Given the description of an element on the screen output the (x, y) to click on. 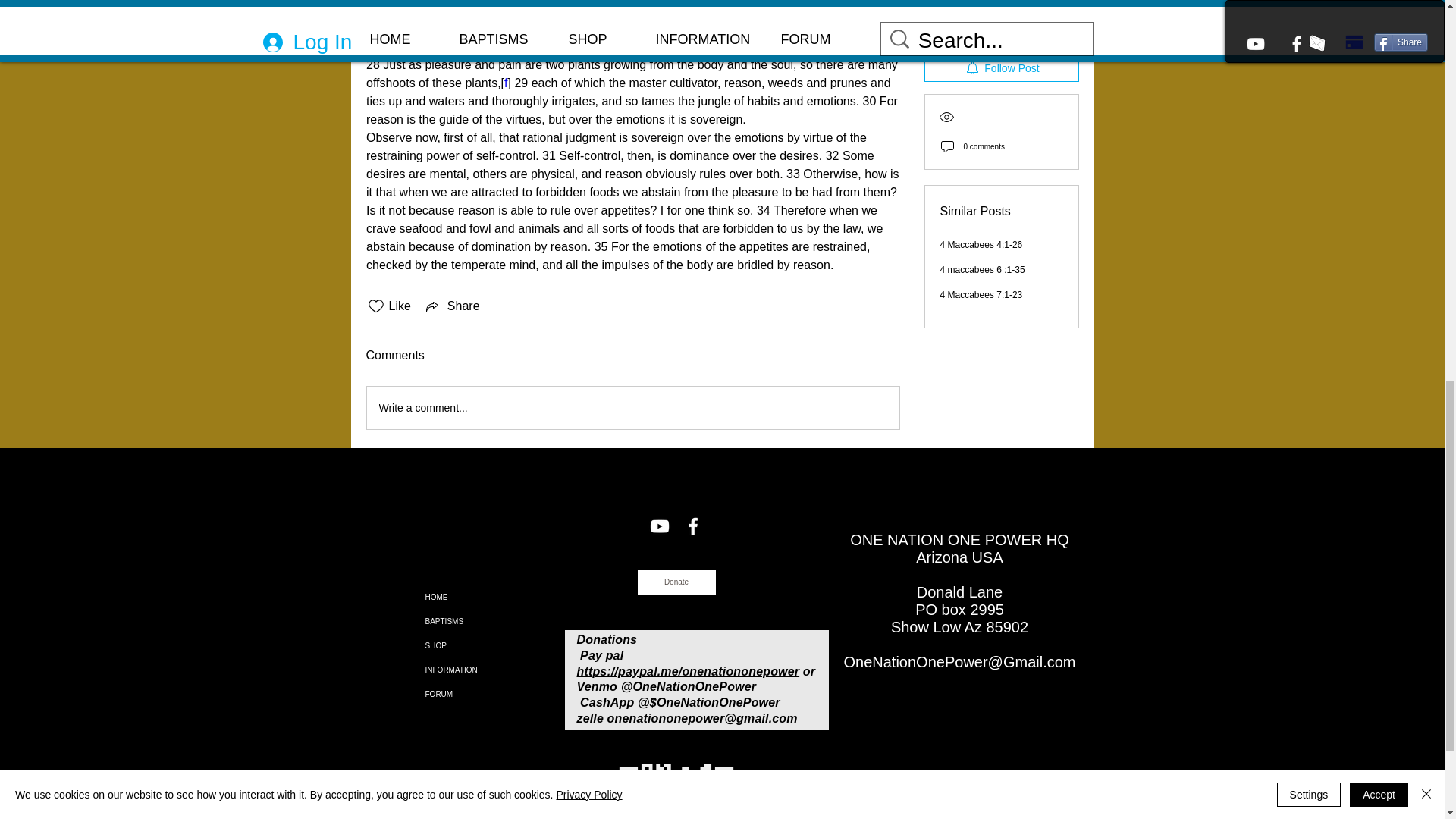
Write a comment... (632, 407)
f (504, 82)
SHOP (466, 645)
Share (451, 306)
BAPTISMS (466, 621)
HOME (466, 597)
